Given the description of an element on the screen output the (x, y) to click on. 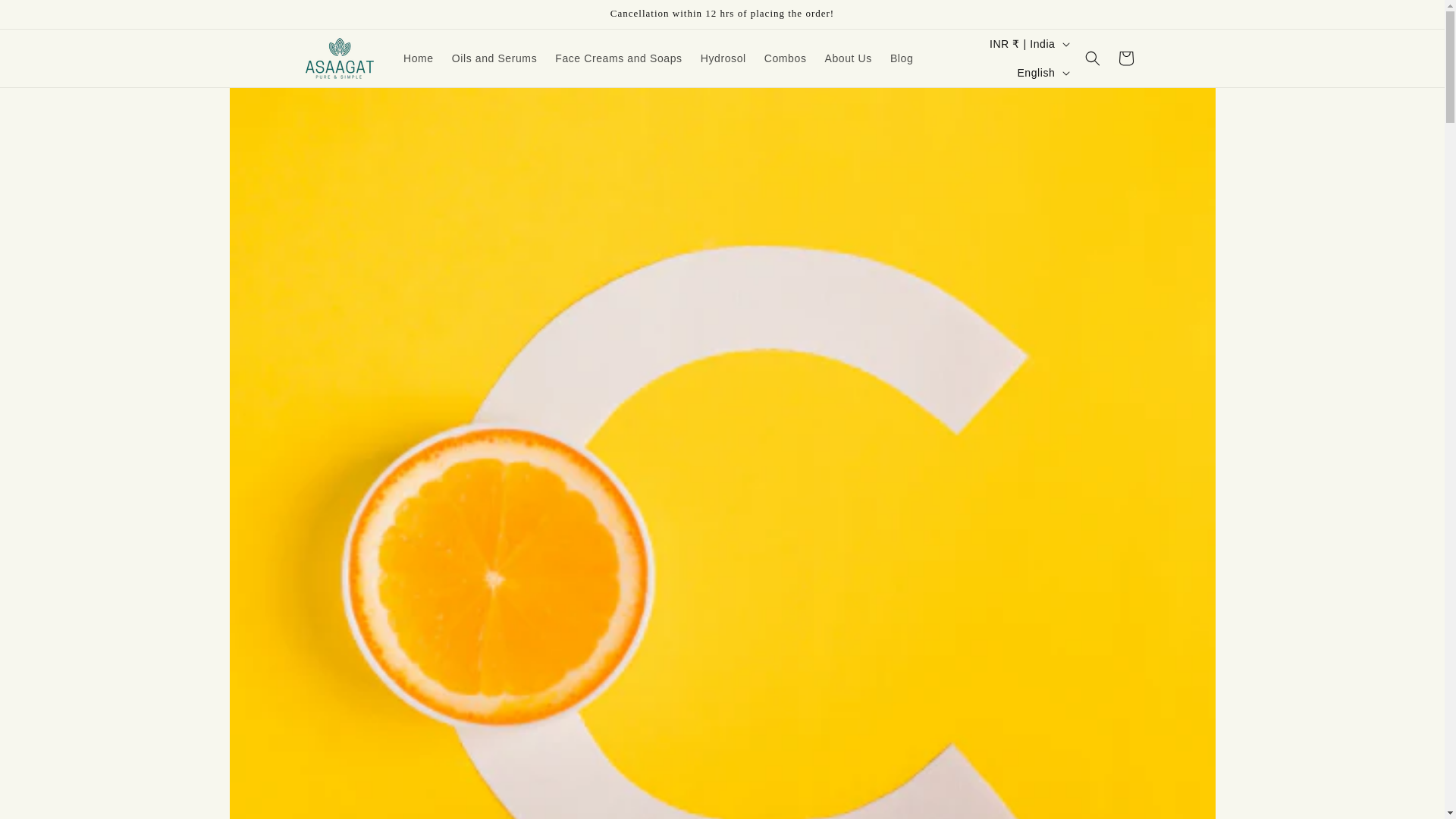
Home (418, 58)
Cart (1124, 58)
About Us (847, 58)
Oils and Serums (494, 58)
Face Creams and Soaps (618, 58)
Skip to content (45, 17)
Hydrosol (723, 58)
Combos (785, 58)
English (1041, 72)
Blog (900, 58)
